Given the description of an element on the screen output the (x, y) to click on. 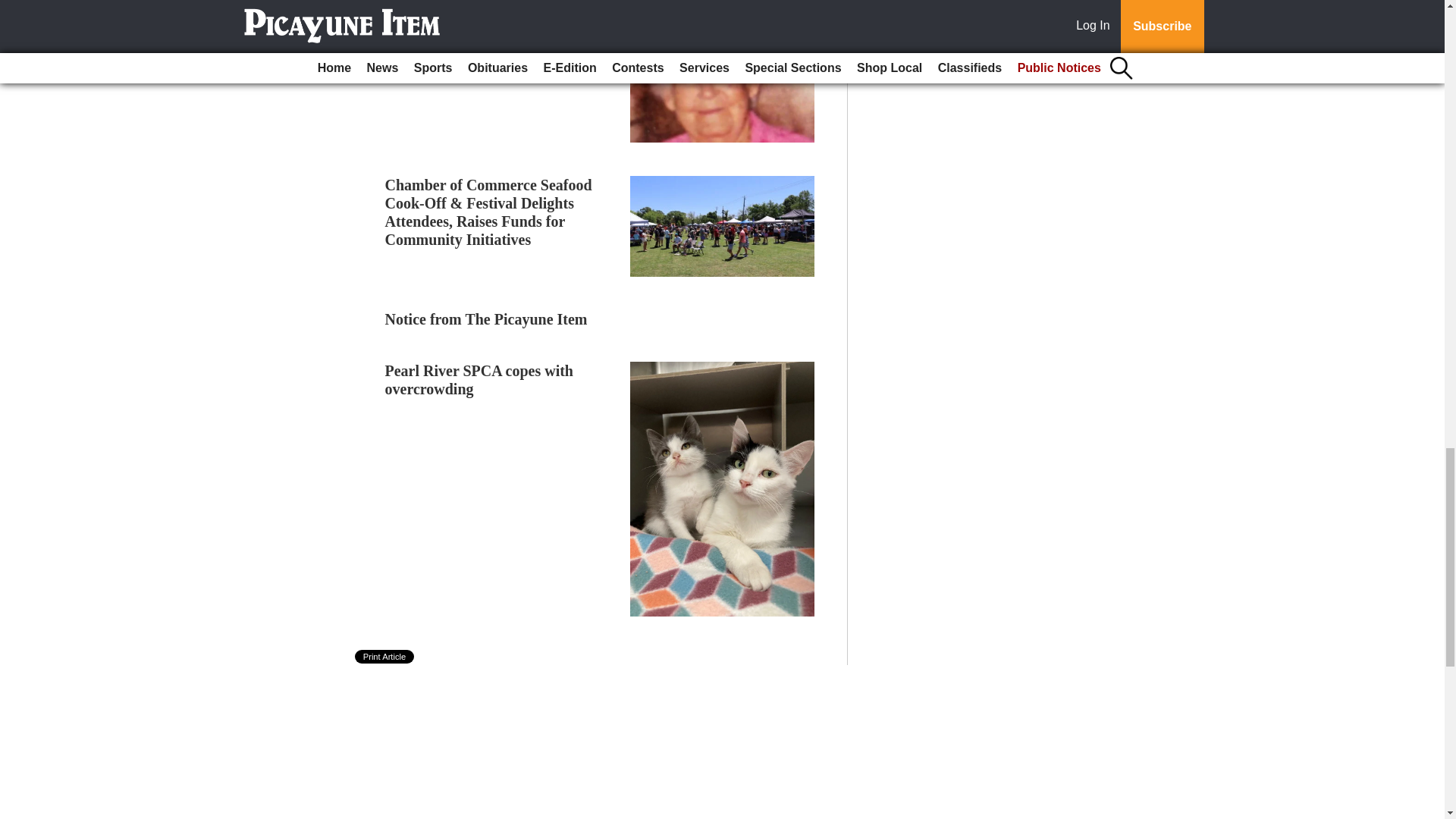
Joyce Wallace Burton (455, 50)
Joyce Wallace Burton (455, 50)
Notice from The Picayune Item (486, 319)
Print Article (384, 656)
Pearl River SPCA copes with overcrowding (479, 379)
Notice from The Picayune Item (486, 319)
Pearl River SPCA copes with overcrowding (479, 379)
